Given the description of an element on the screen output the (x, y) to click on. 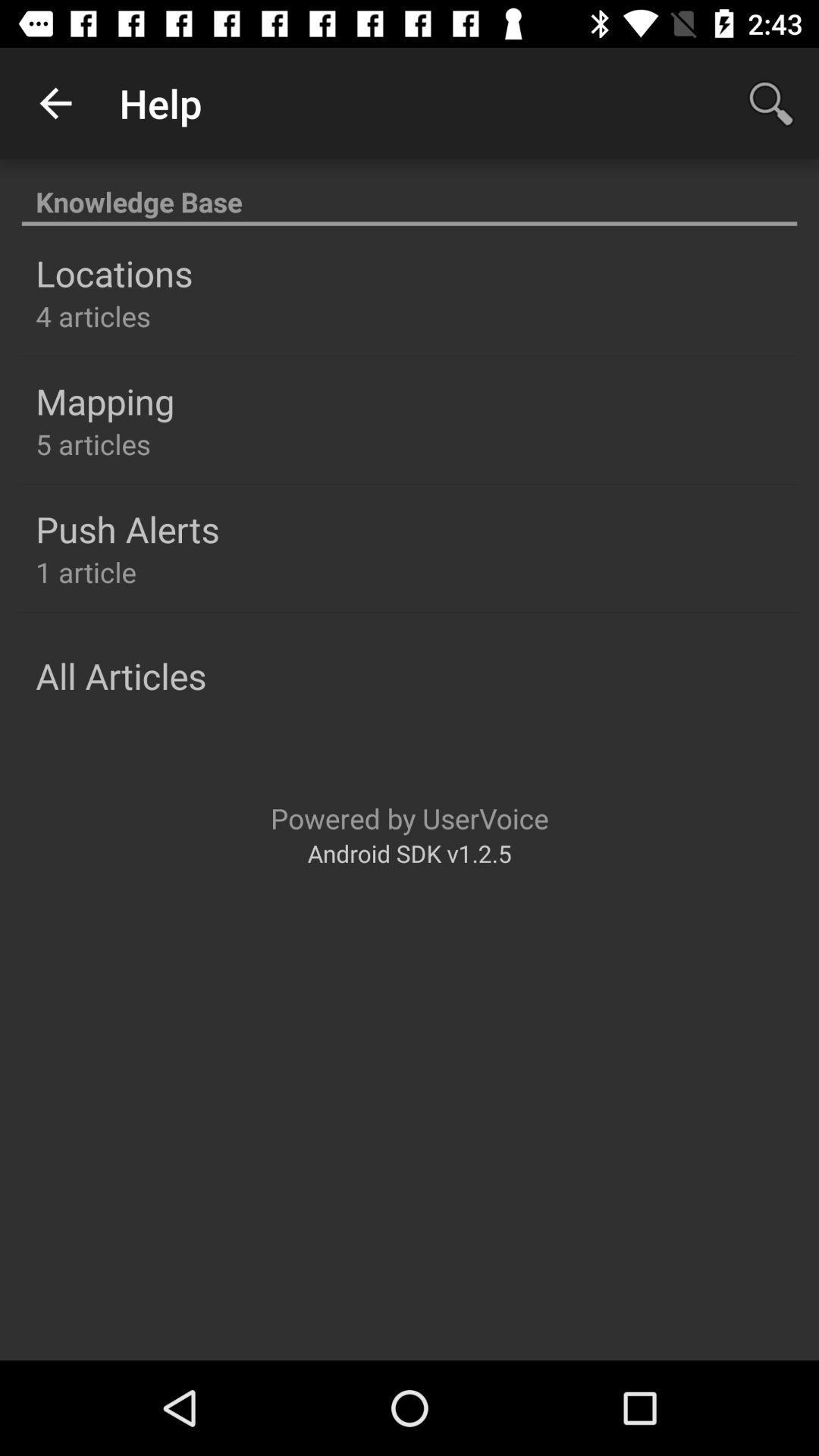
open item above 5 articles icon (104, 401)
